Given the description of an element on the screen output the (x, y) to click on. 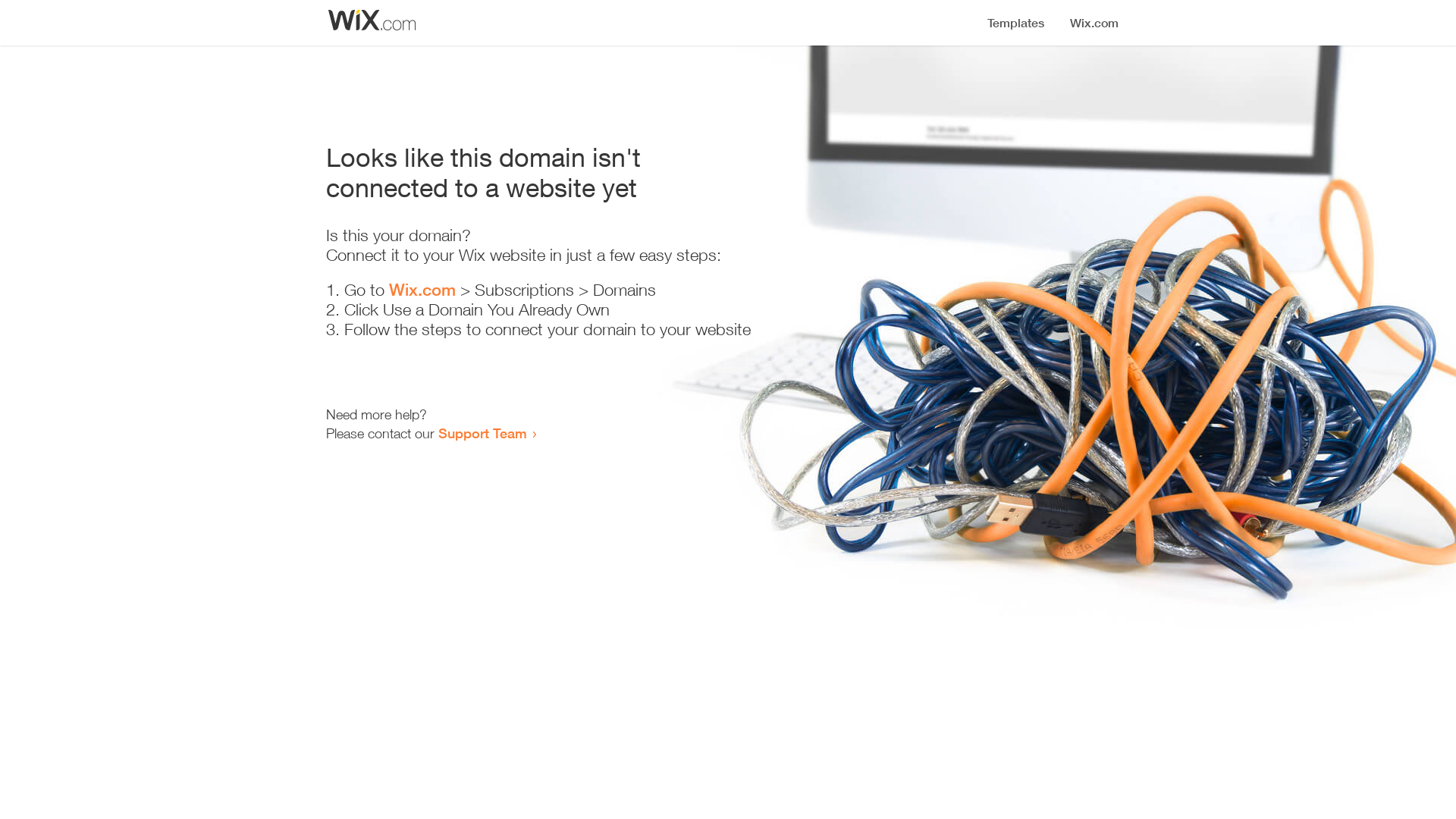
Support Team Element type: text (482, 432)
Wix.com Element type: text (422, 289)
